Given the description of an element on the screen output the (x, y) to click on. 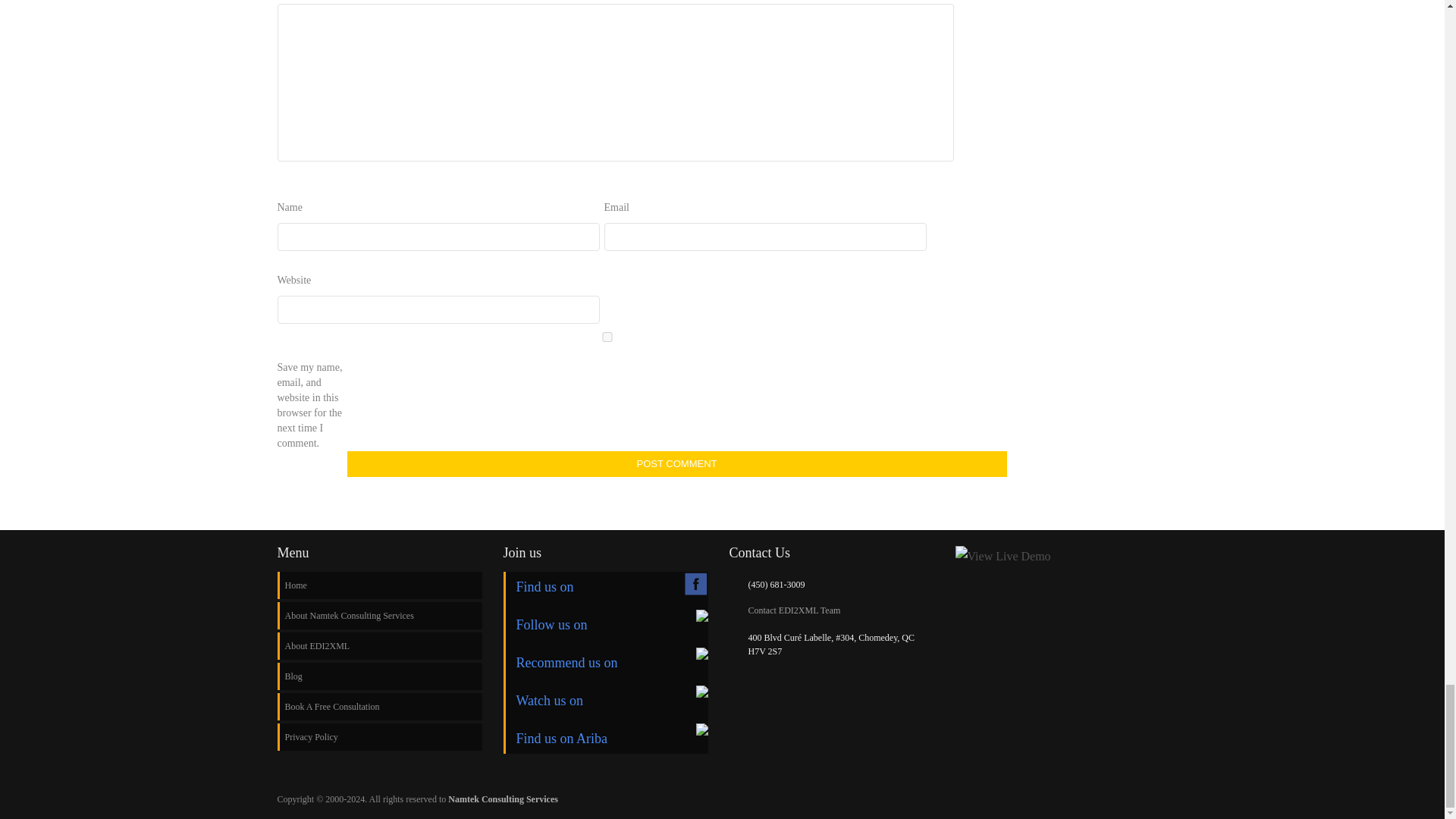
yes (607, 337)
Post Comment (677, 463)
